Given the description of an element on the screen output the (x, y) to click on. 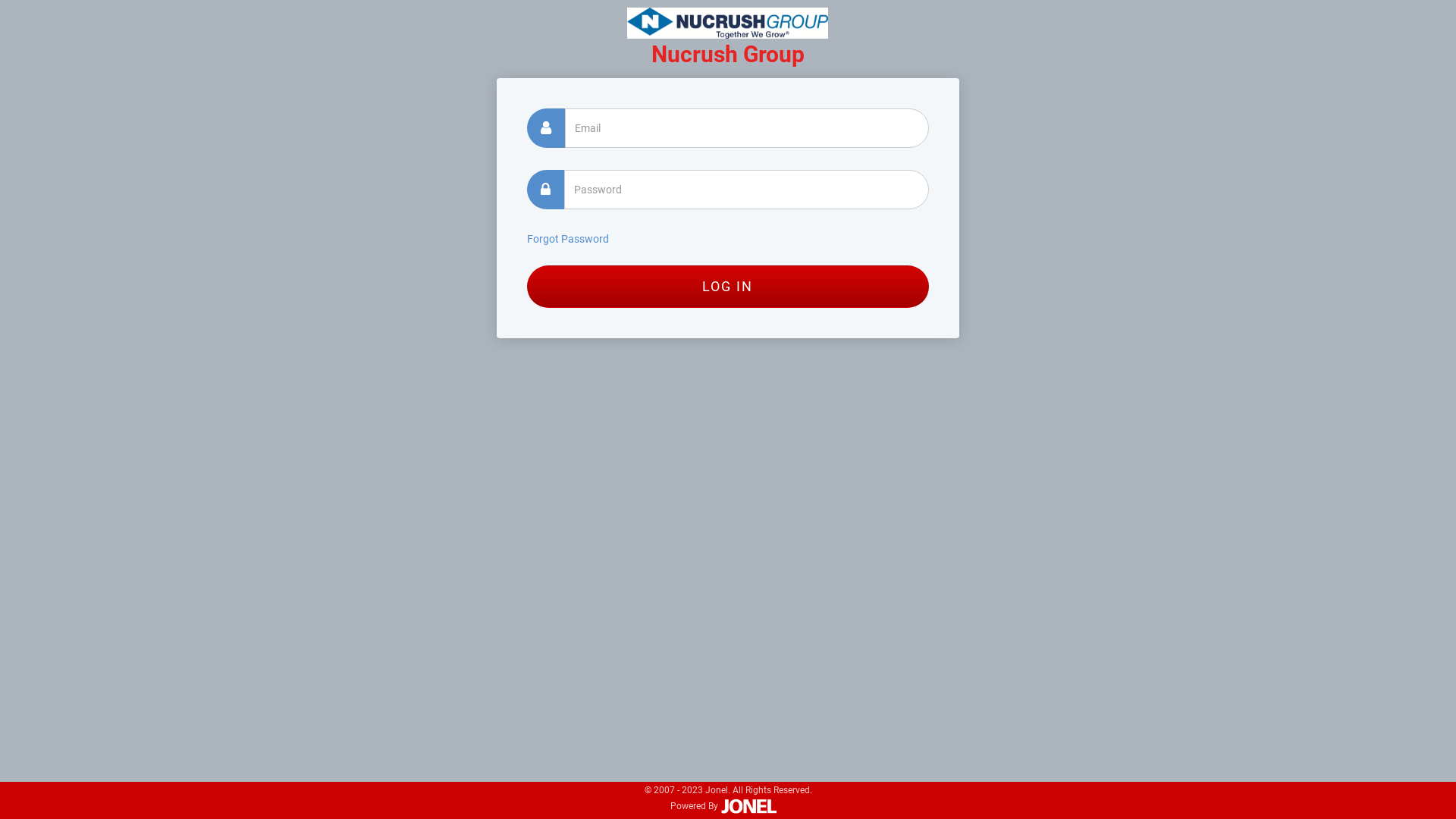
Forgot Password Element type: text (567, 238)
Log in Element type: text (727, 286)
